Given the description of an element on the screen output the (x, y) to click on. 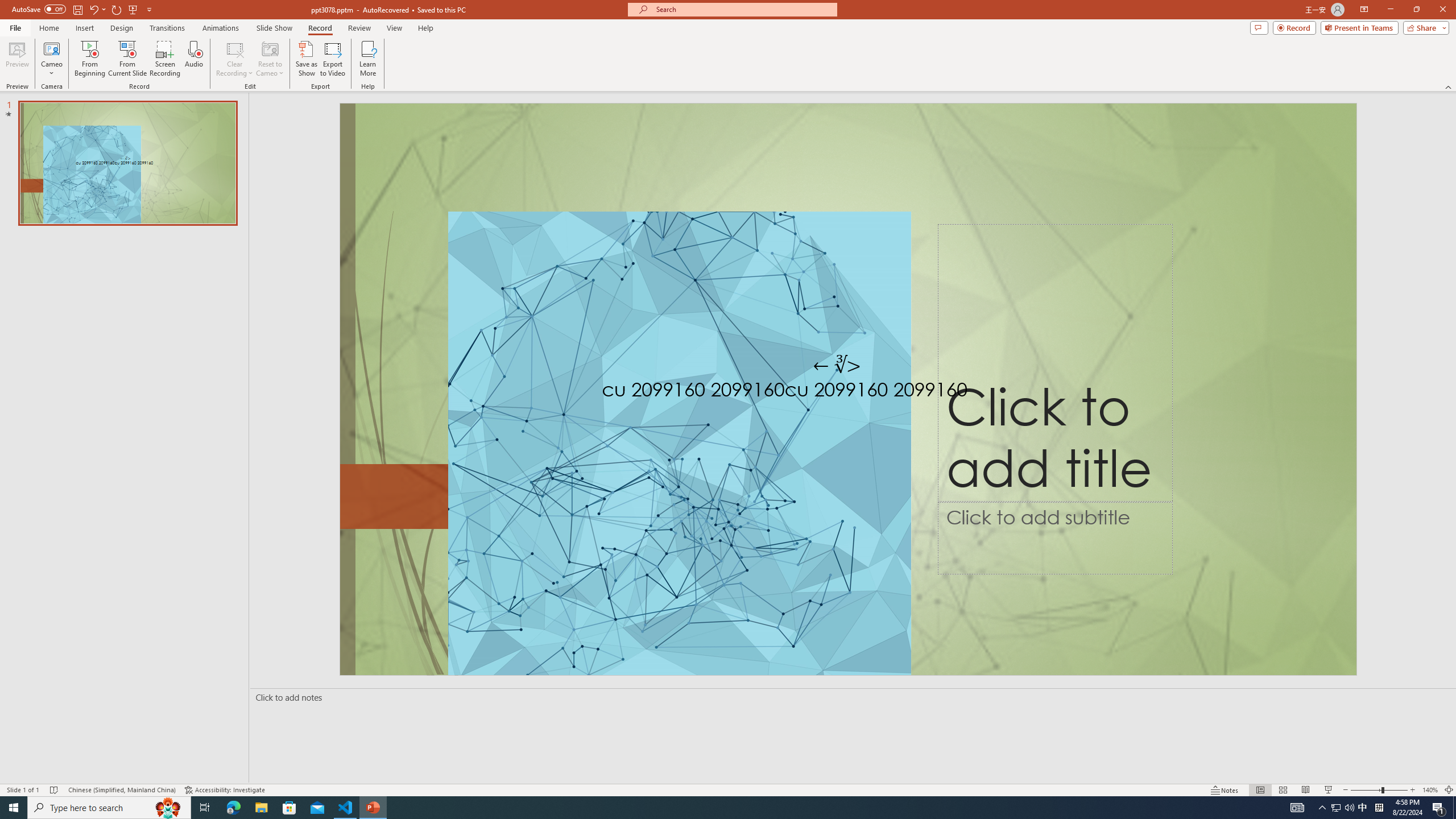
Zoom 140% (1430, 790)
